Given the description of an element on the screen output the (x, y) to click on. 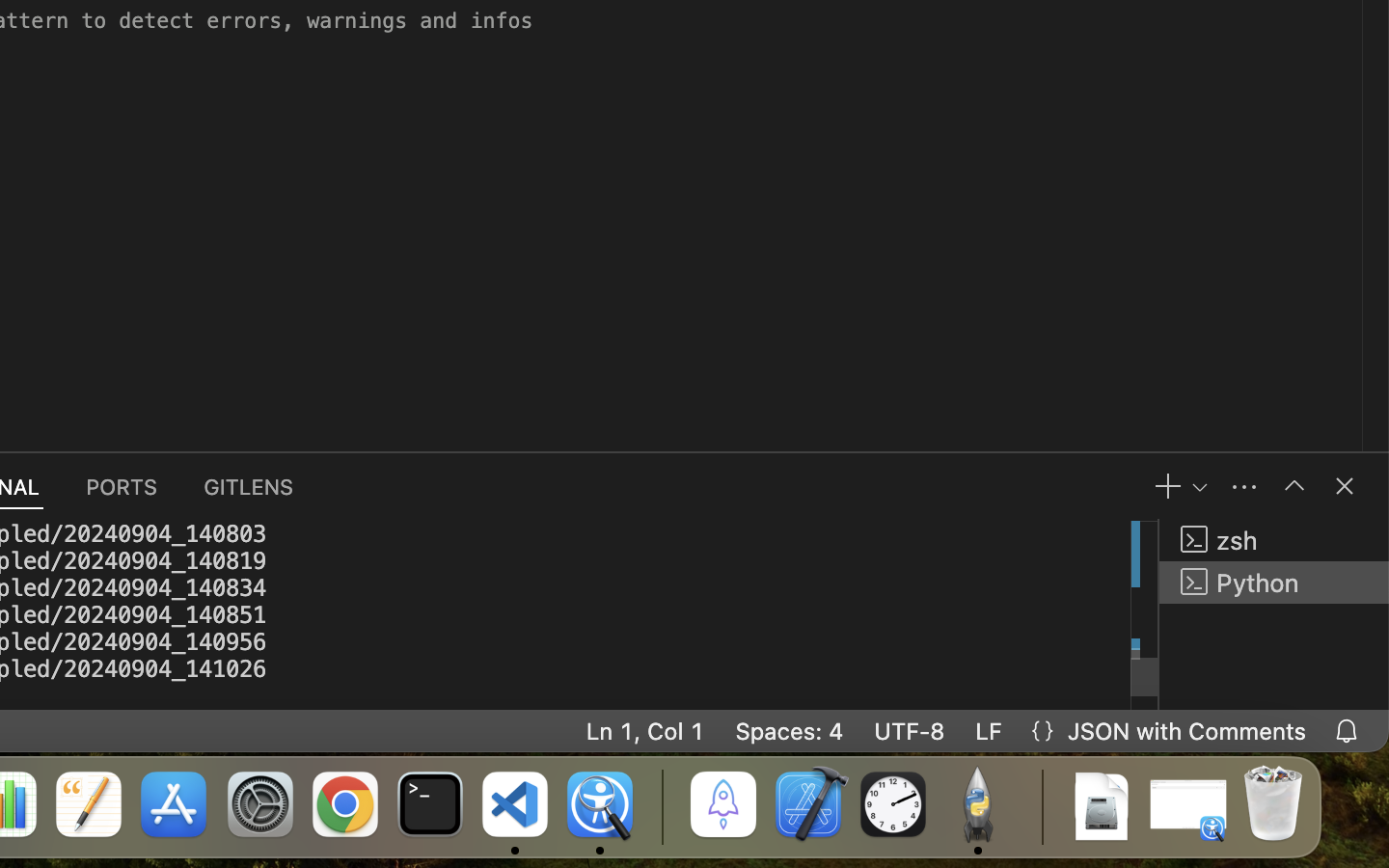
0 GITLENS Element type: AXRadioButton (249, 485)
0.4285714328289032 Element type: AXDockItem (660, 805)
0 PORTS Element type: AXRadioButton (122, 485)
zsh  Element type: AXGroup (1274, 539)
Python  Element type: AXGroup (1274, 582)
